Given the description of an element on the screen output the (x, y) to click on. 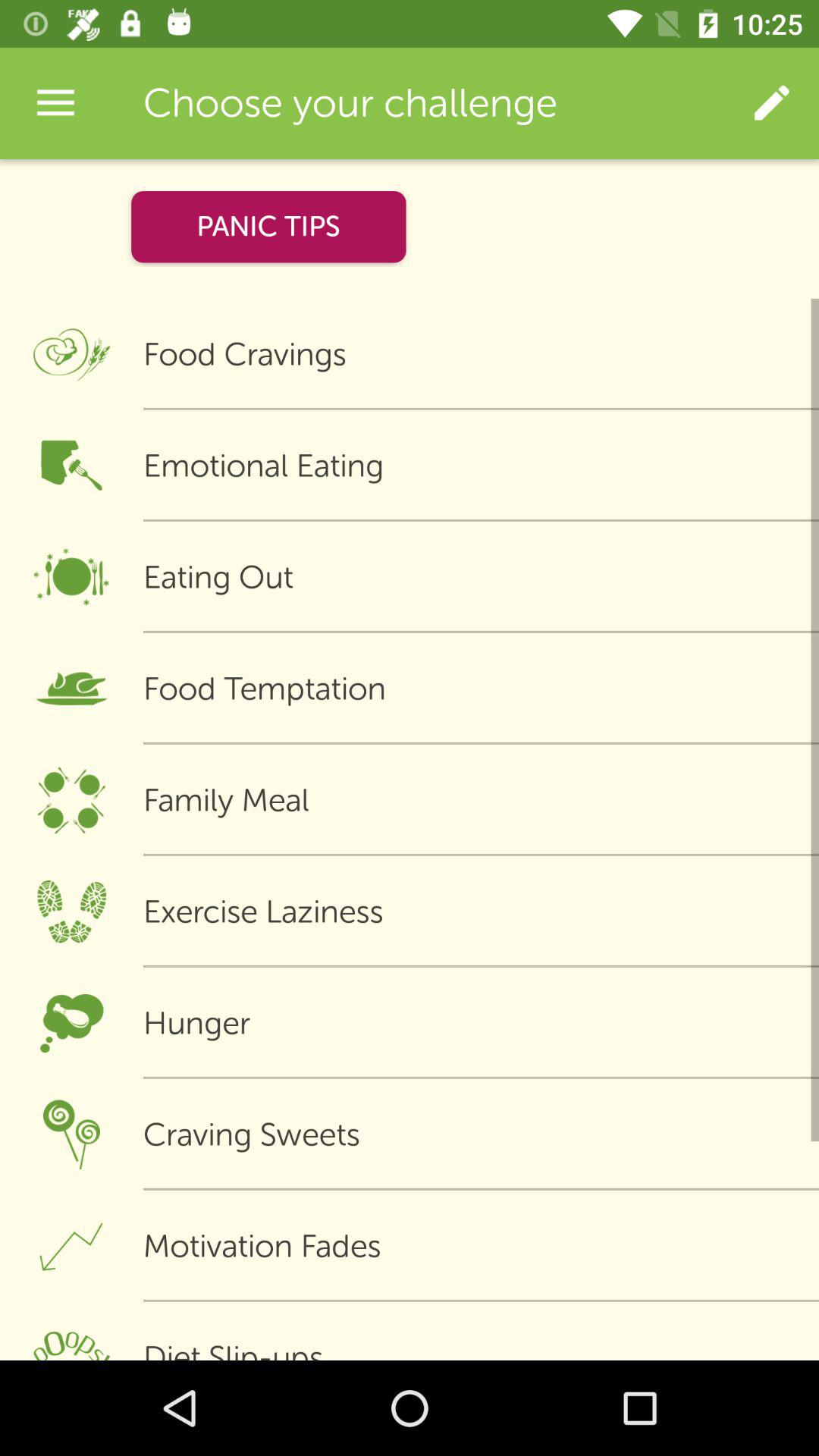
choose icon above the food cravings (268, 226)
